Given the description of an element on the screen output the (x, y) to click on. 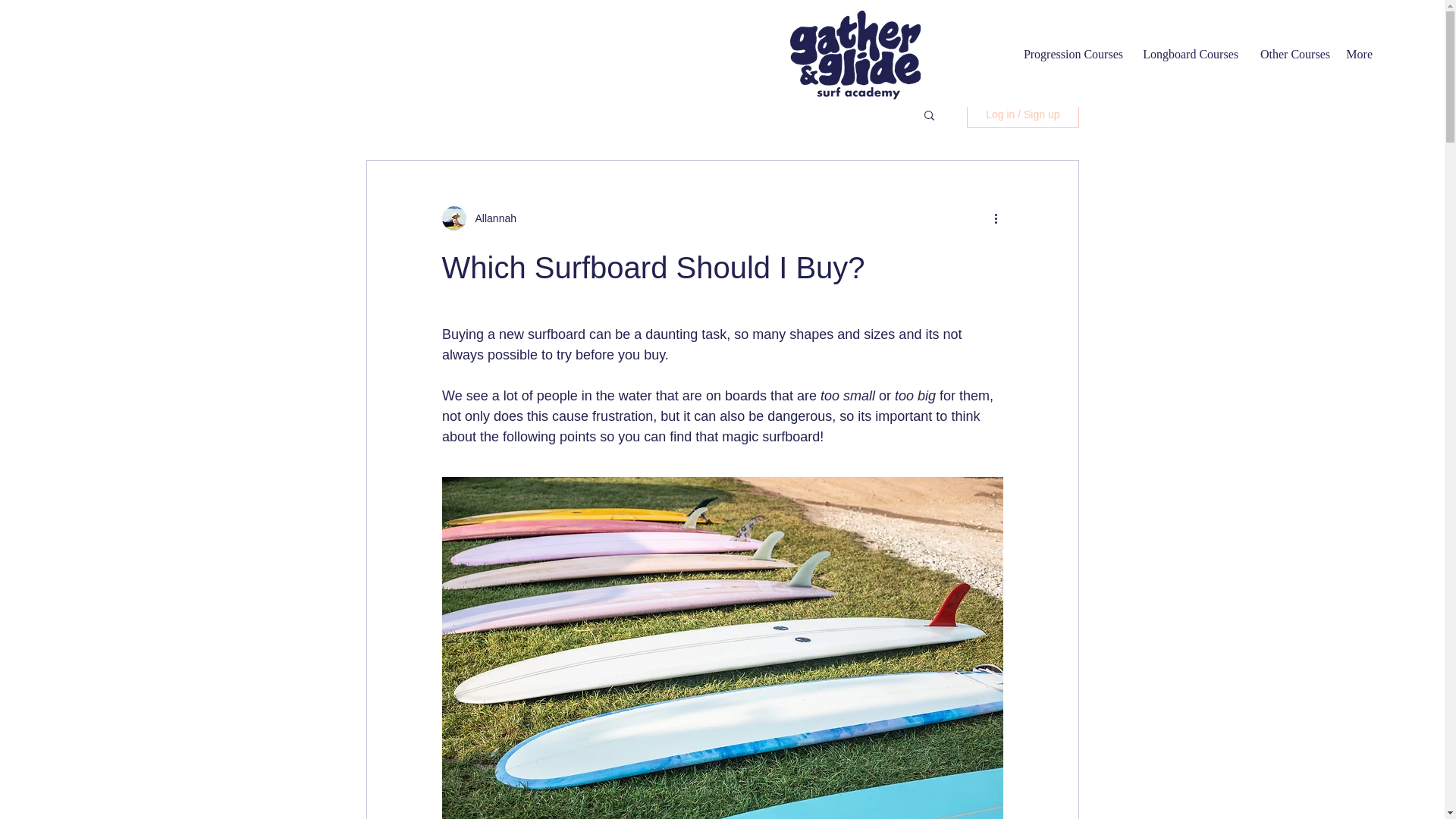
Other Courses (1292, 54)
Allannah (490, 218)
Longboard Courses (1188, 54)
Progression Courses (1071, 54)
